Given the description of an element on the screen output the (x, y) to click on. 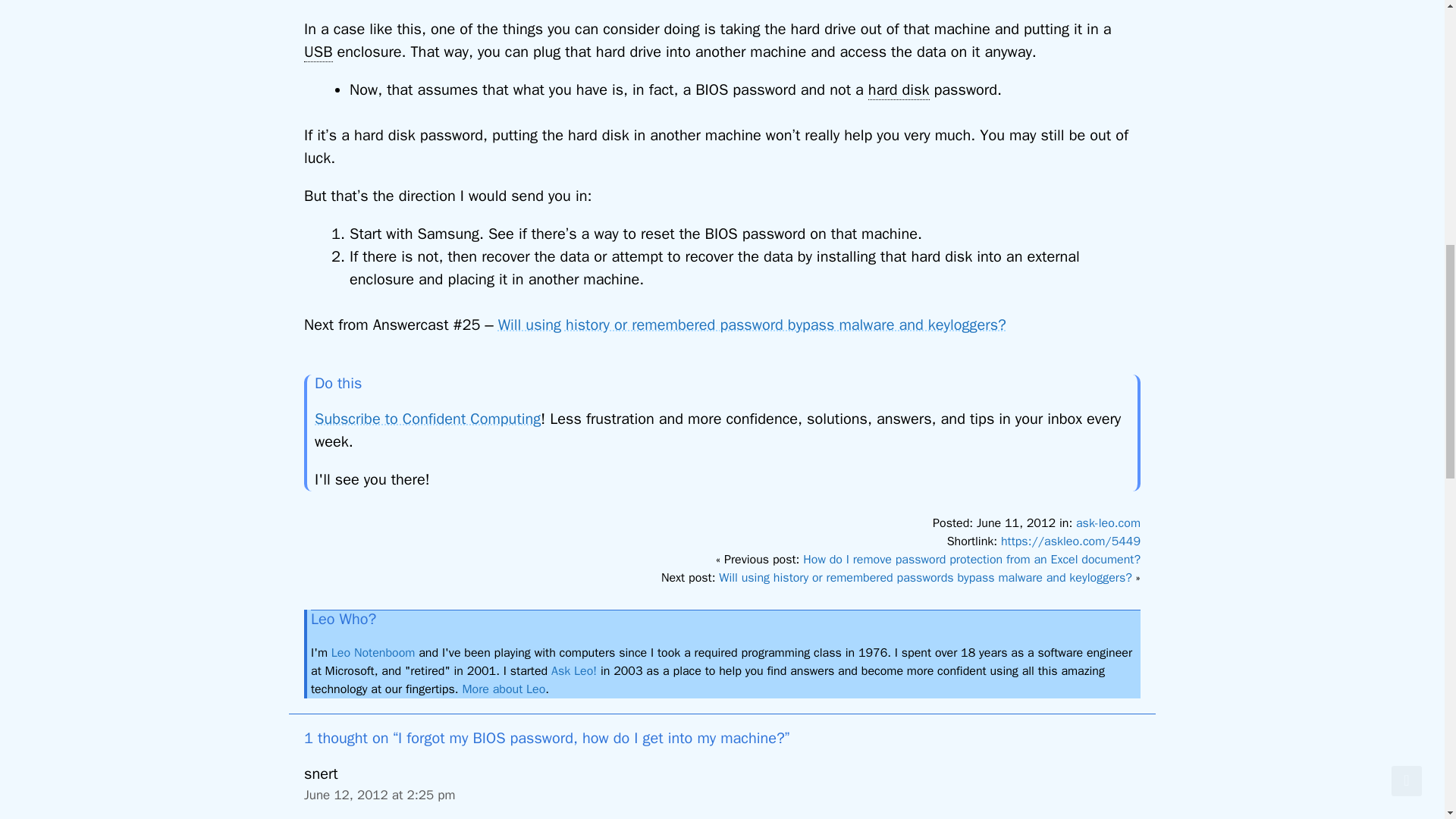
More about Leo (502, 688)
Ask Leo! (573, 670)
hard disk (898, 89)
Subscribe to Confident Computing (427, 418)
USB (318, 52)
Leo Notenboom (372, 652)
How do I remove password protection from an Excel document? (971, 559)
June 12, 2012 at 2:25 pm (379, 795)
ask-leo.com (1107, 522)
